Given the description of an element on the screen output the (x, y) to click on. 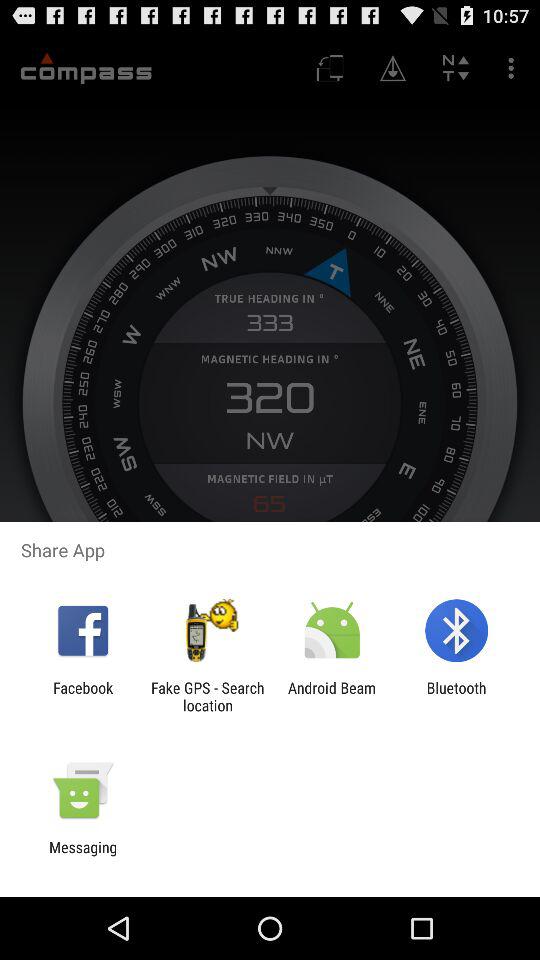
press item next to bluetooth app (332, 696)
